Given the description of an element on the screen output the (x, y) to click on. 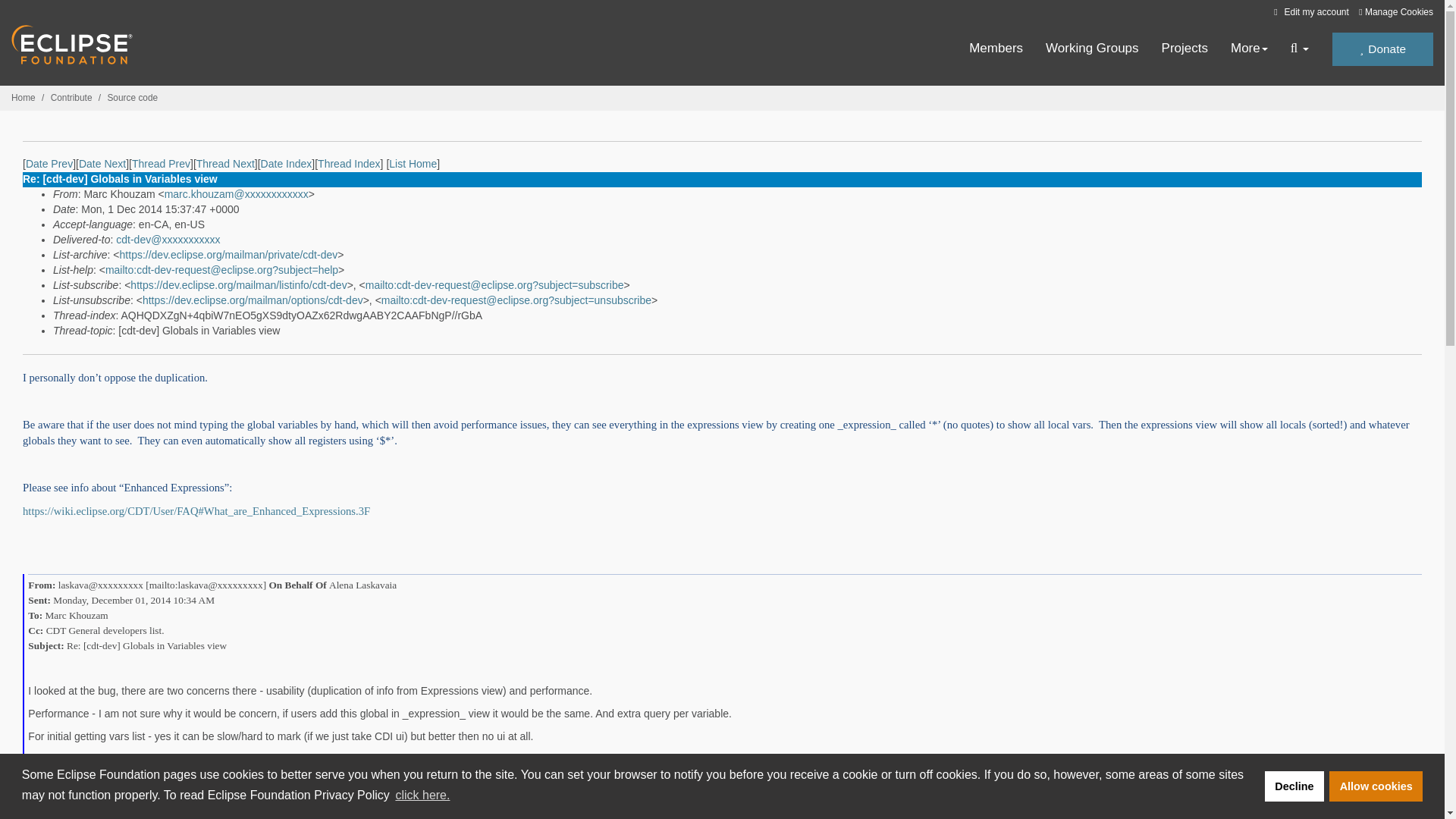
click here. (422, 794)
Edit my account (1309, 11)
Projects (1184, 48)
Donate (1382, 49)
Members (996, 48)
Allow cookies (1375, 786)
Decline (1294, 786)
Working Groups (1091, 48)
Manage Cookies (1395, 12)
More (1249, 48)
